Given the description of an element on the screen output the (x, y) to click on. 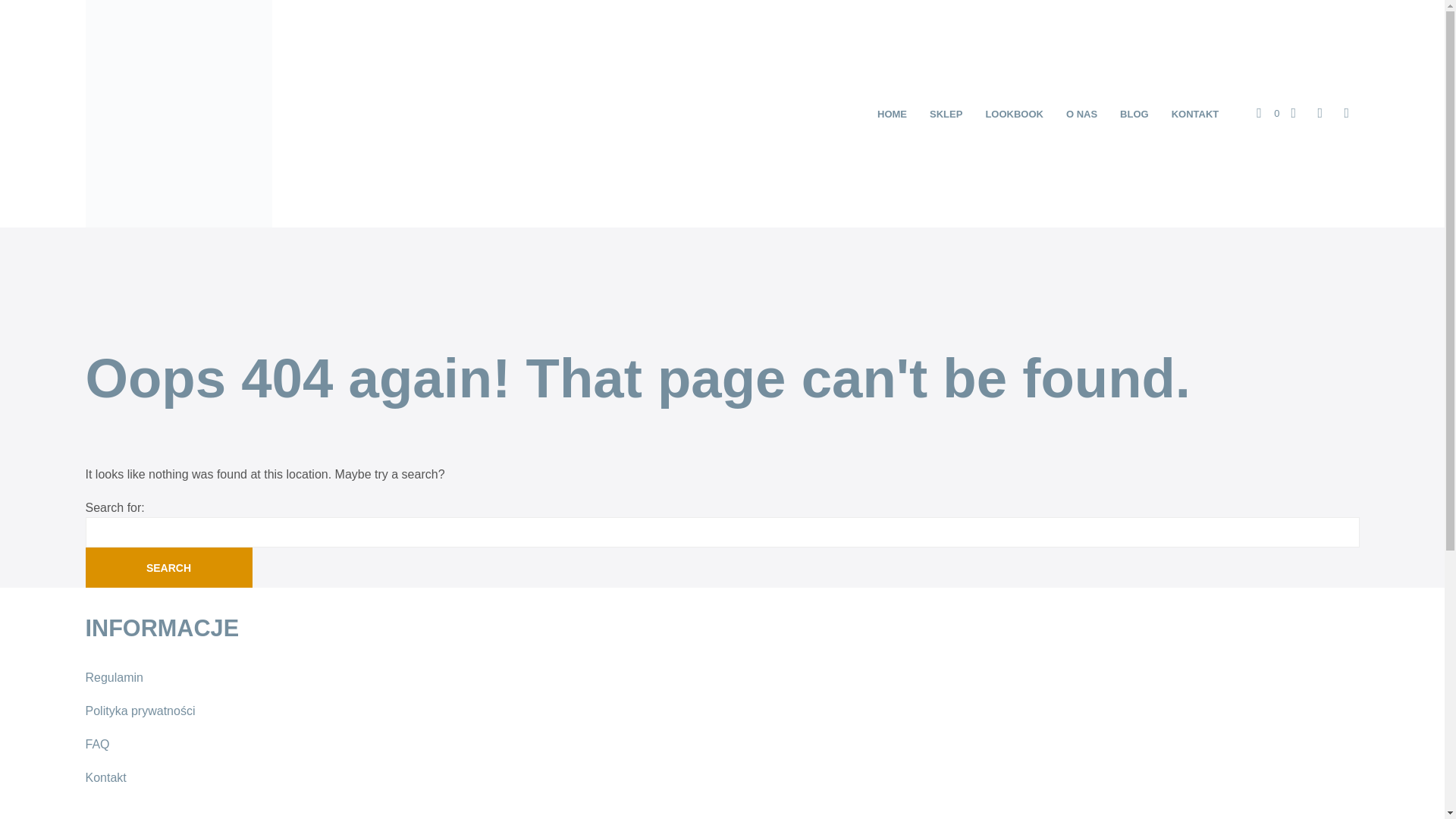
Search (167, 567)
LOOKBOOK (1014, 114)
HOME (892, 114)
BLOG (1134, 114)
Search (167, 567)
SKLEP (946, 114)
Regulamin (113, 676)
0 (1267, 113)
FAQ (96, 744)
KONTAKT (1195, 114)
